Given the description of an element on the screen output the (x, y) to click on. 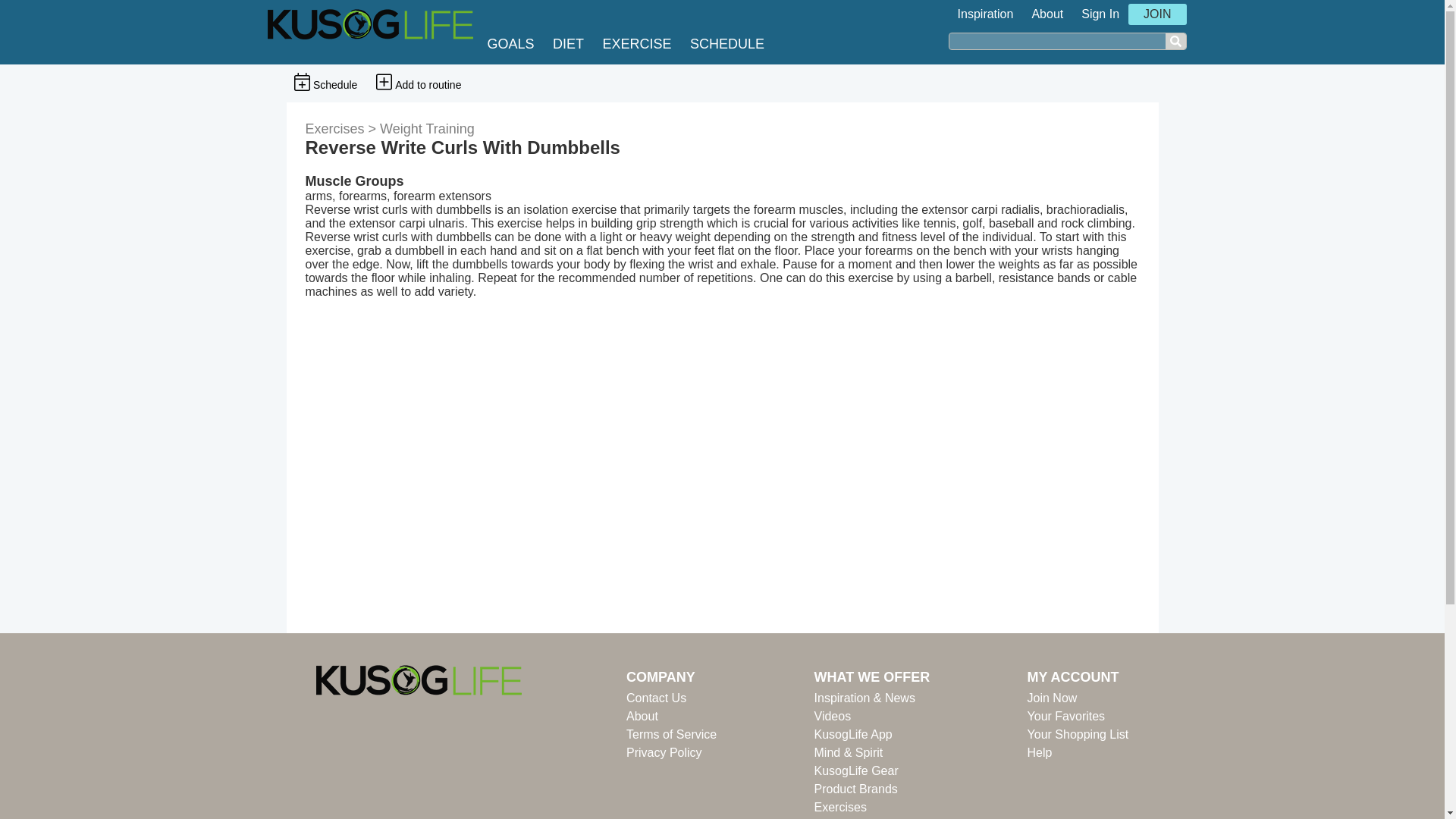
KusogLife Gear (871, 771)
KusogLife App (871, 734)
Your Favorites (1078, 716)
DIET (571, 43)
Sign In (1099, 14)
Inspiration (986, 14)
Your Shopping List (1078, 734)
Weight Training (427, 128)
Add a reminder to take this product. (325, 82)
JOIN (1157, 14)
